Given the description of an element on the screen output the (x, y) to click on. 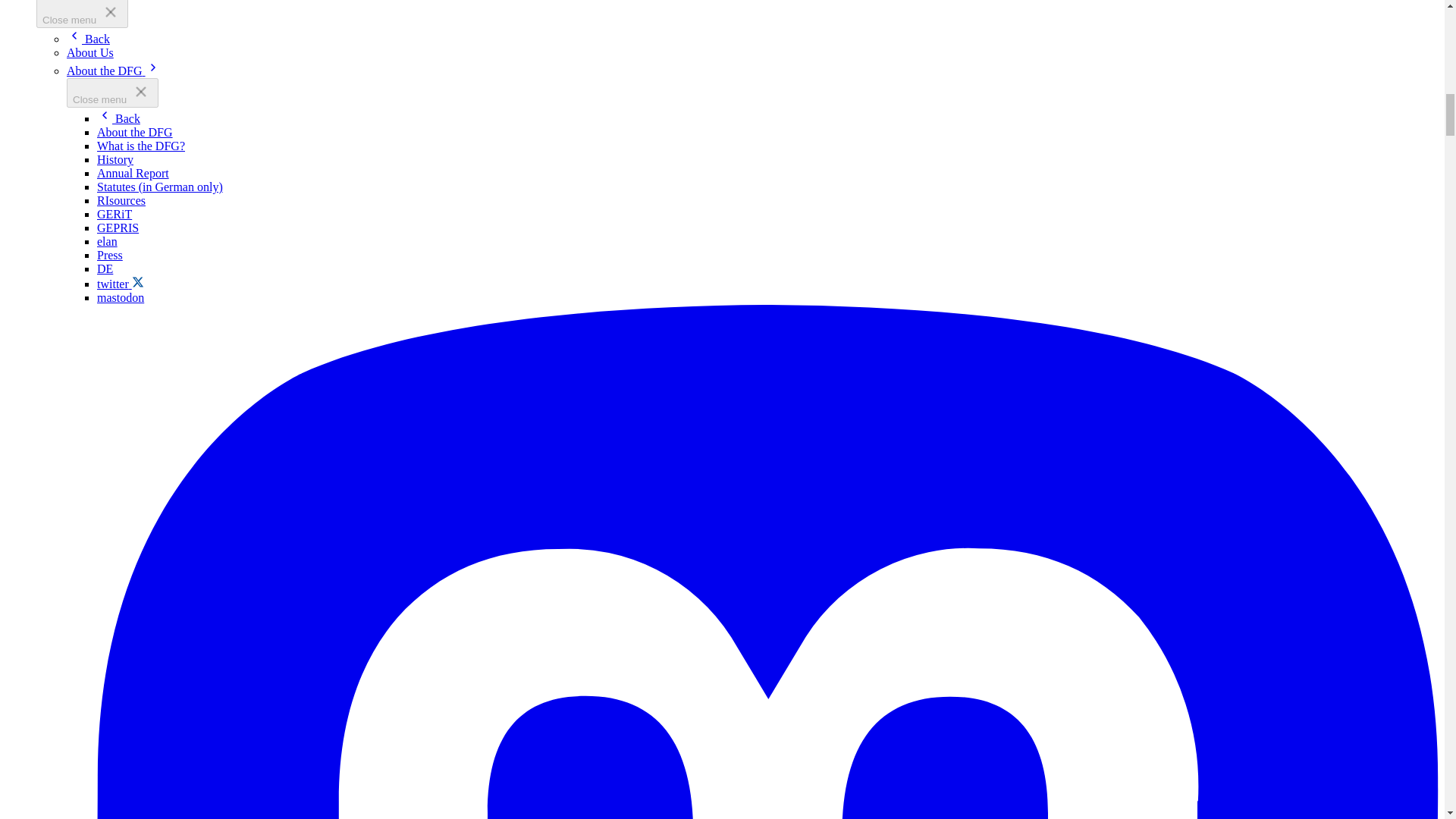
twitter (120, 283)
Annual Report (132, 173)
GEPRIS (117, 227)
About Us (89, 51)
Close menu (82, 13)
About the DFG (135, 132)
History (115, 159)
elan (107, 241)
DE (105, 268)
Back (118, 118)
